Given the description of an element on the screen output the (x, y) to click on. 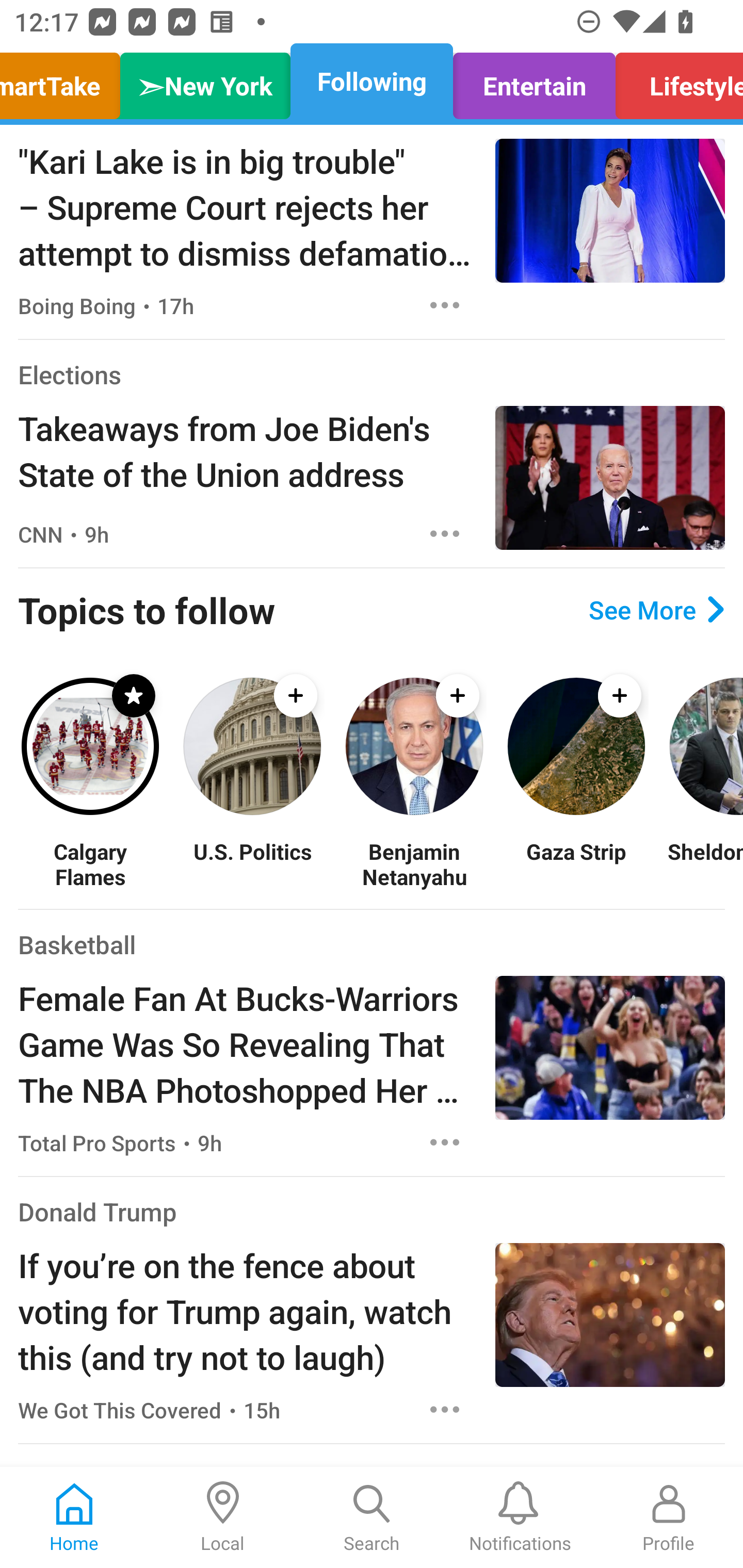
SmartTake (65, 81)
➣New York (205, 81)
Following (371, 81)
Entertain (534, 81)
Options (444, 305)
Elections (69, 374)
Options (444, 533)
See More (656, 609)
Calgary Flames (89, 863)
U.S. Politics (251, 863)
Benjamin Netanyahu (413, 863)
Gaza Strip (575, 863)
Sheldon Keefe (704, 863)
Basketball (76, 943)
Options (444, 1142)
Donald Trump (97, 1211)
Options (444, 1409)
Local (222, 1517)
Search (371, 1517)
Notifications (519, 1517)
Profile (668, 1517)
